Given the description of an element on the screen output the (x, y) to click on. 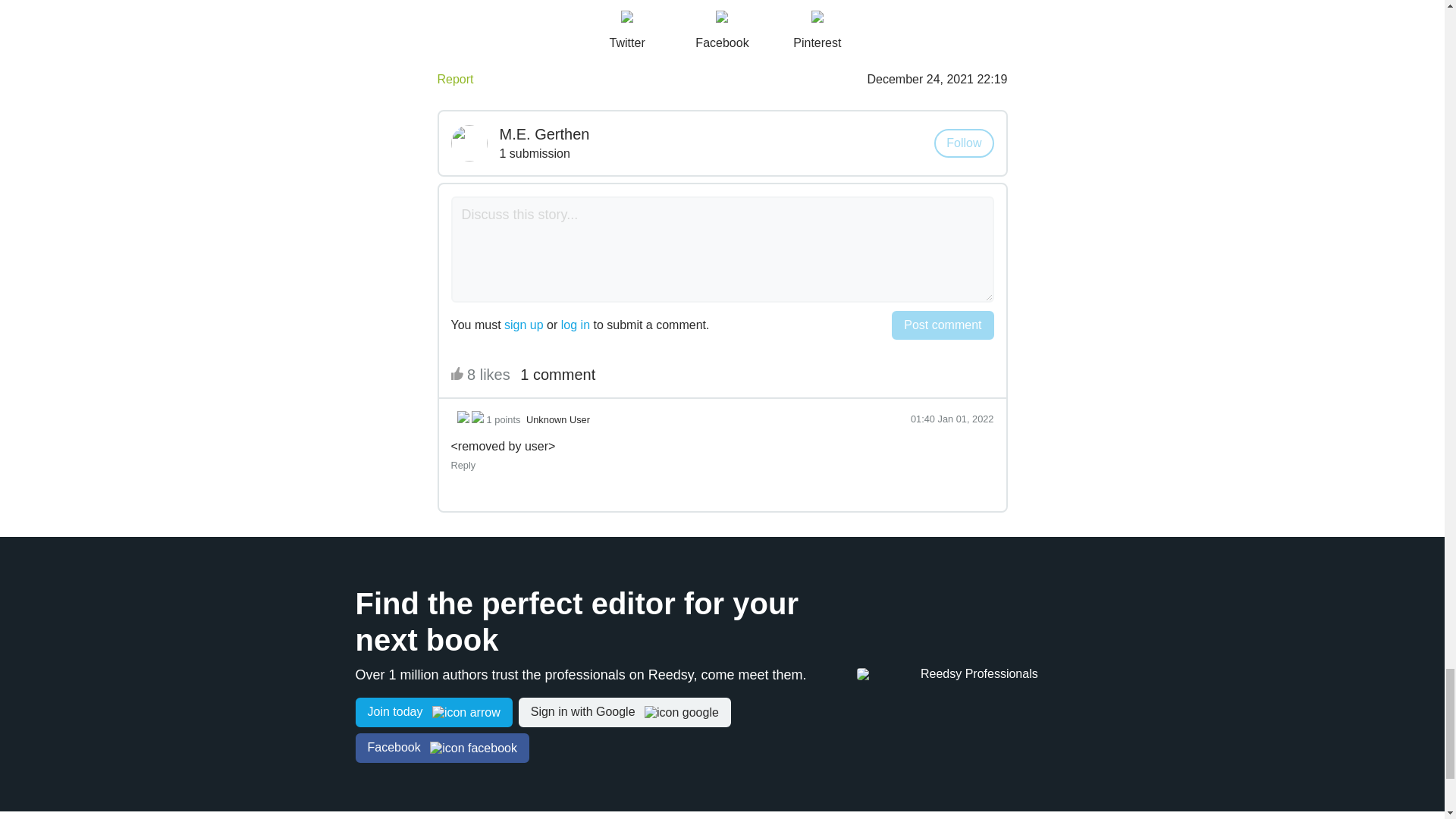
Sign up (433, 712)
Sign in with Facebook (441, 747)
Post comment (941, 325)
Sign in with Google (624, 712)
